Given the description of an element on the screen output the (x, y) to click on. 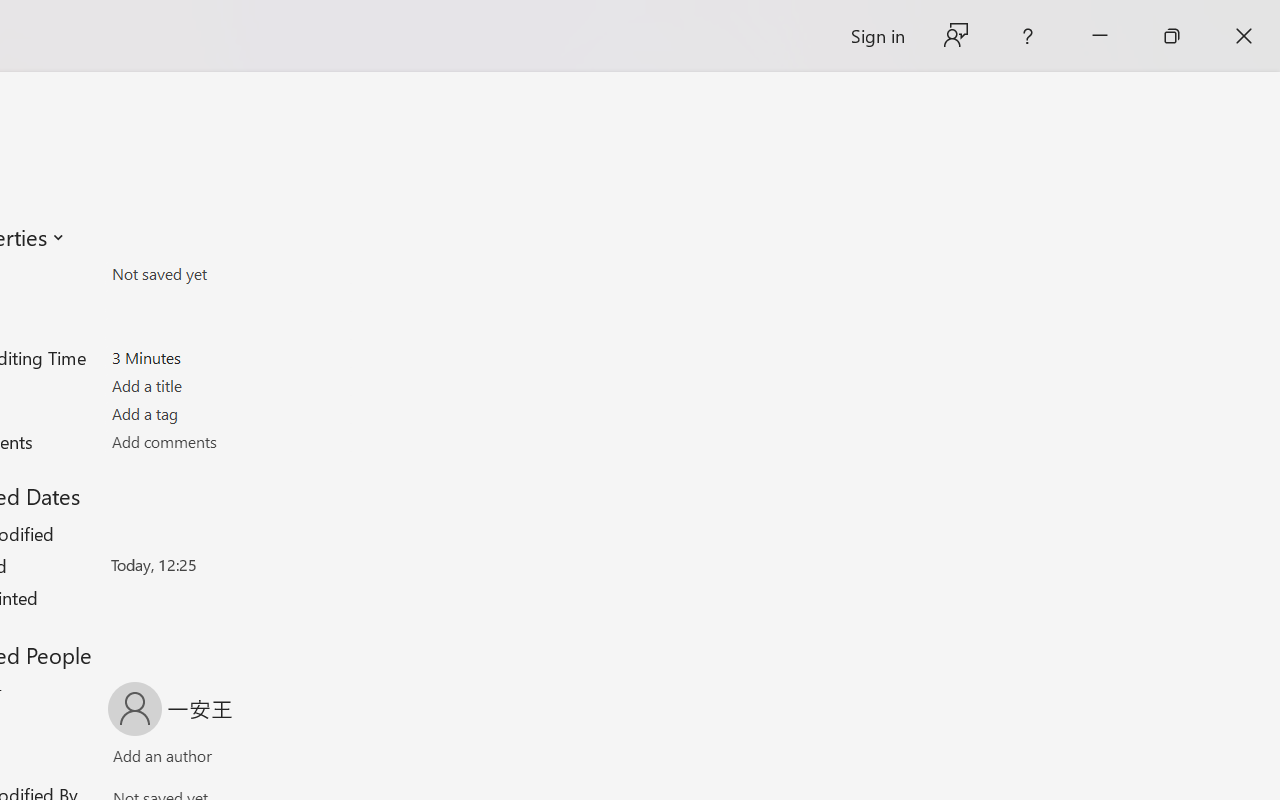
Pages (228, 301)
Browse Address Book (291, 760)
Title (228, 386)
Words (228, 330)
Add an author (142, 759)
Size (228, 274)
Tags (228, 413)
